Given the description of an element on the screen output the (x, y) to click on. 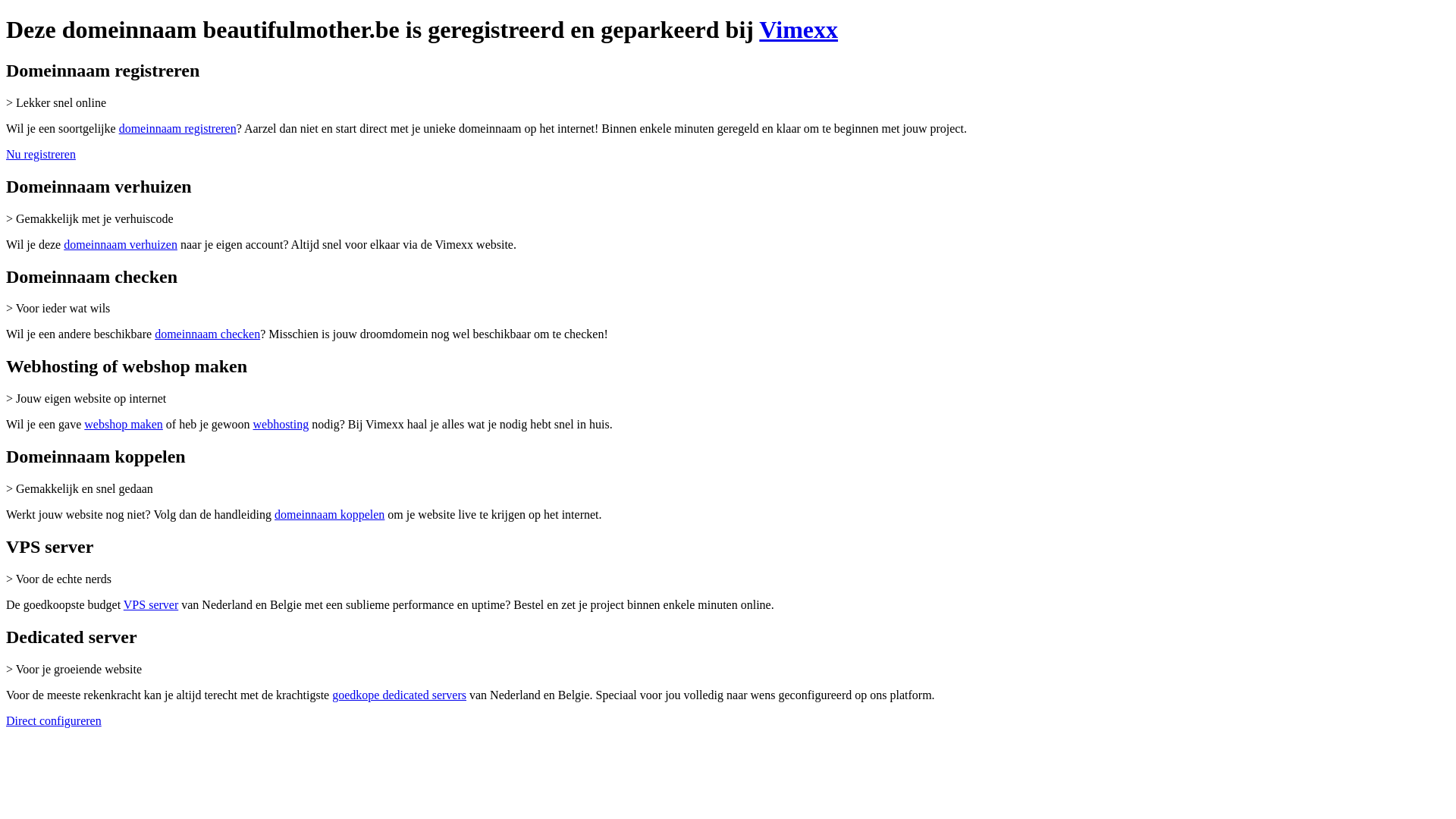
Direct configureren Element type: text (53, 720)
domeinnaam registreren Element type: text (177, 128)
domeinnaam checken Element type: text (207, 333)
VPS server Element type: text (150, 604)
webhosting Element type: text (280, 423)
Nu registreren Element type: text (40, 153)
goedkope dedicated servers Element type: text (399, 694)
Vimexx Element type: text (798, 29)
domeinnaam koppelen Element type: text (329, 514)
domeinnaam verhuizen Element type: text (120, 244)
webshop maken Element type: text (123, 423)
